Given the description of an element on the screen output the (x, y) to click on. 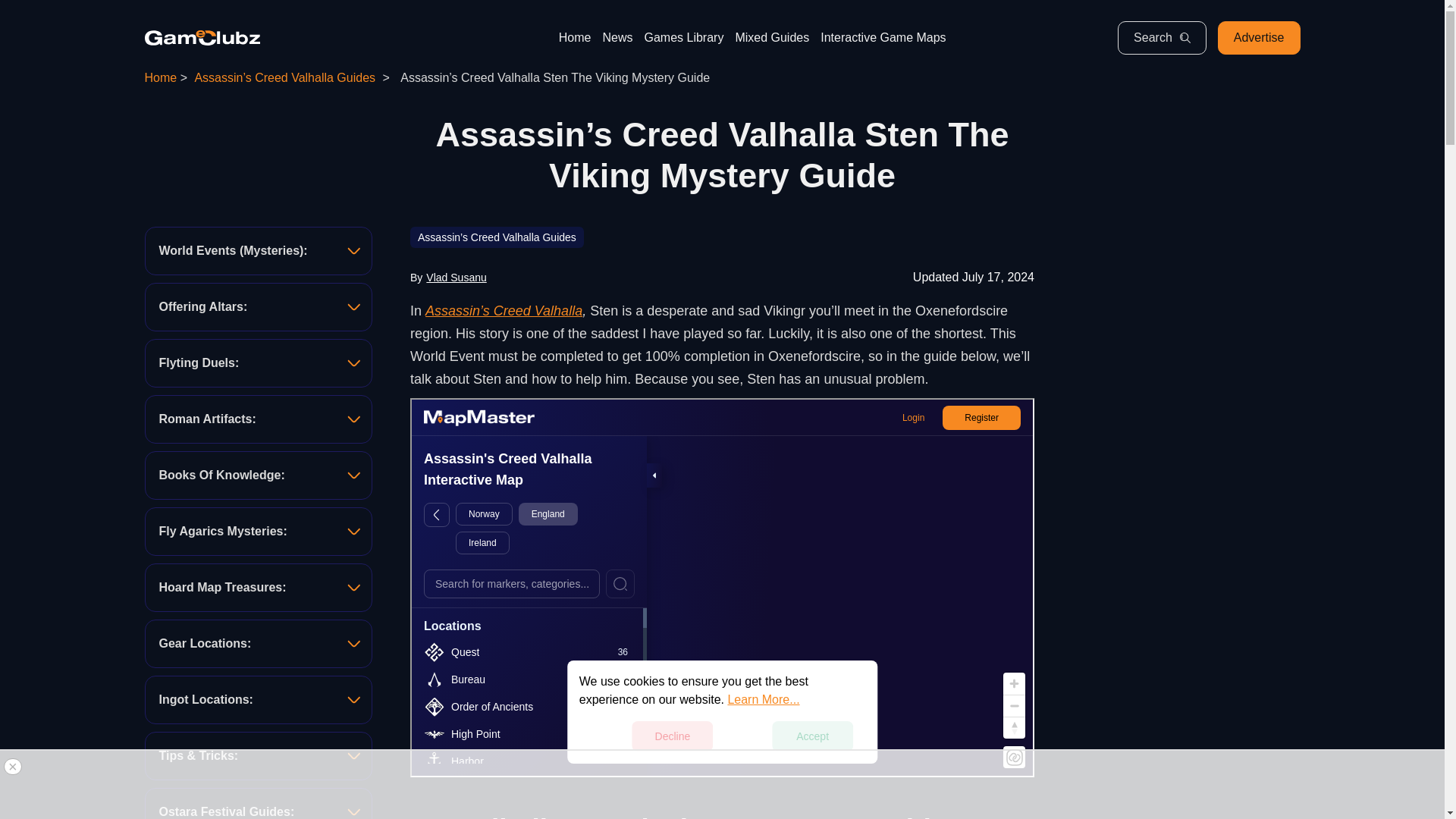
Mixed Guides (772, 37)
Games Library (683, 37)
Home (160, 77)
Interactive Game Maps (882, 37)
Advertise (1258, 37)
